Given the description of an element on the screen output the (x, y) to click on. 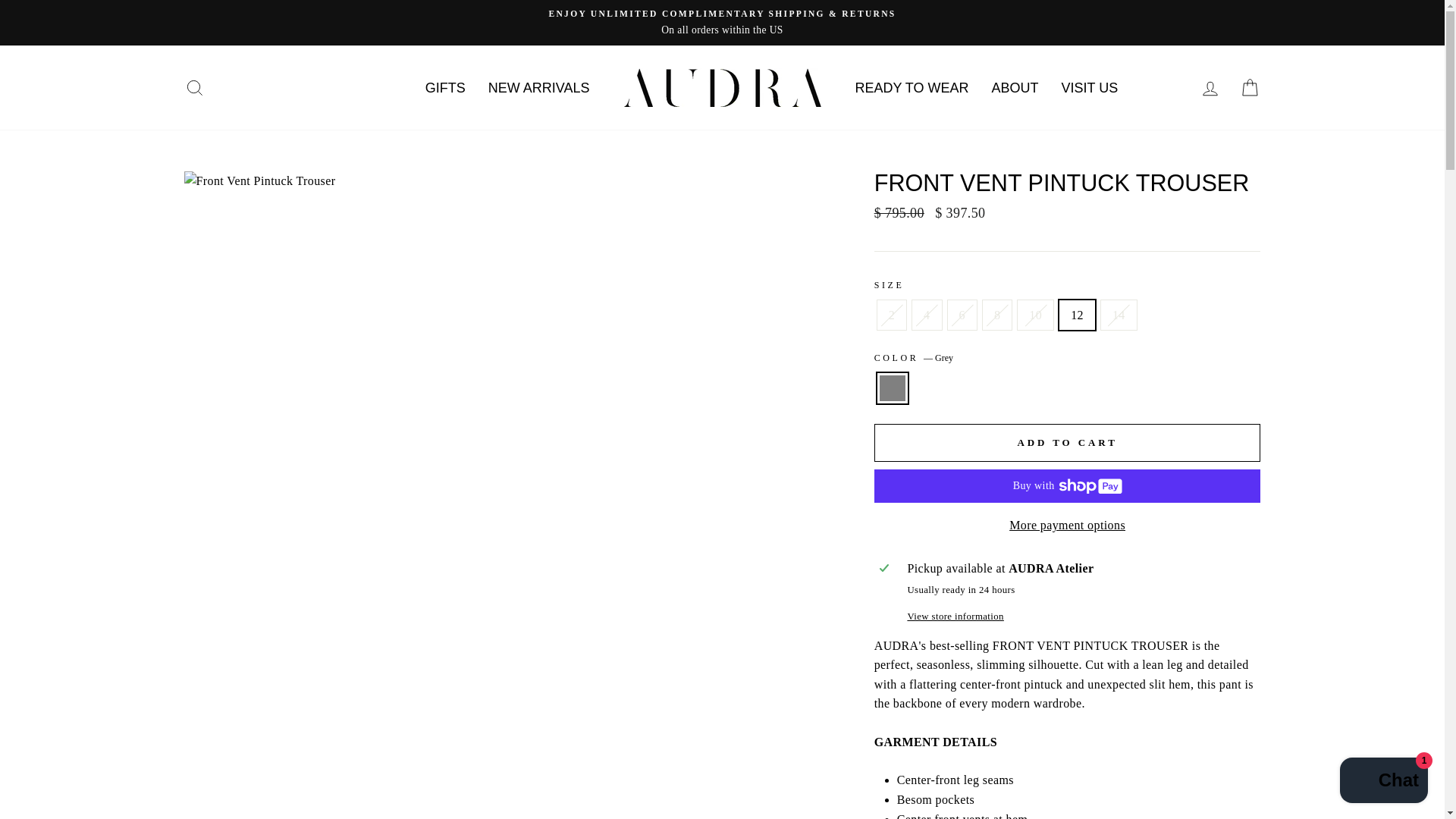
Shopify online store chat (1383, 781)
